Given the description of an element on the screen output the (x, y) to click on. 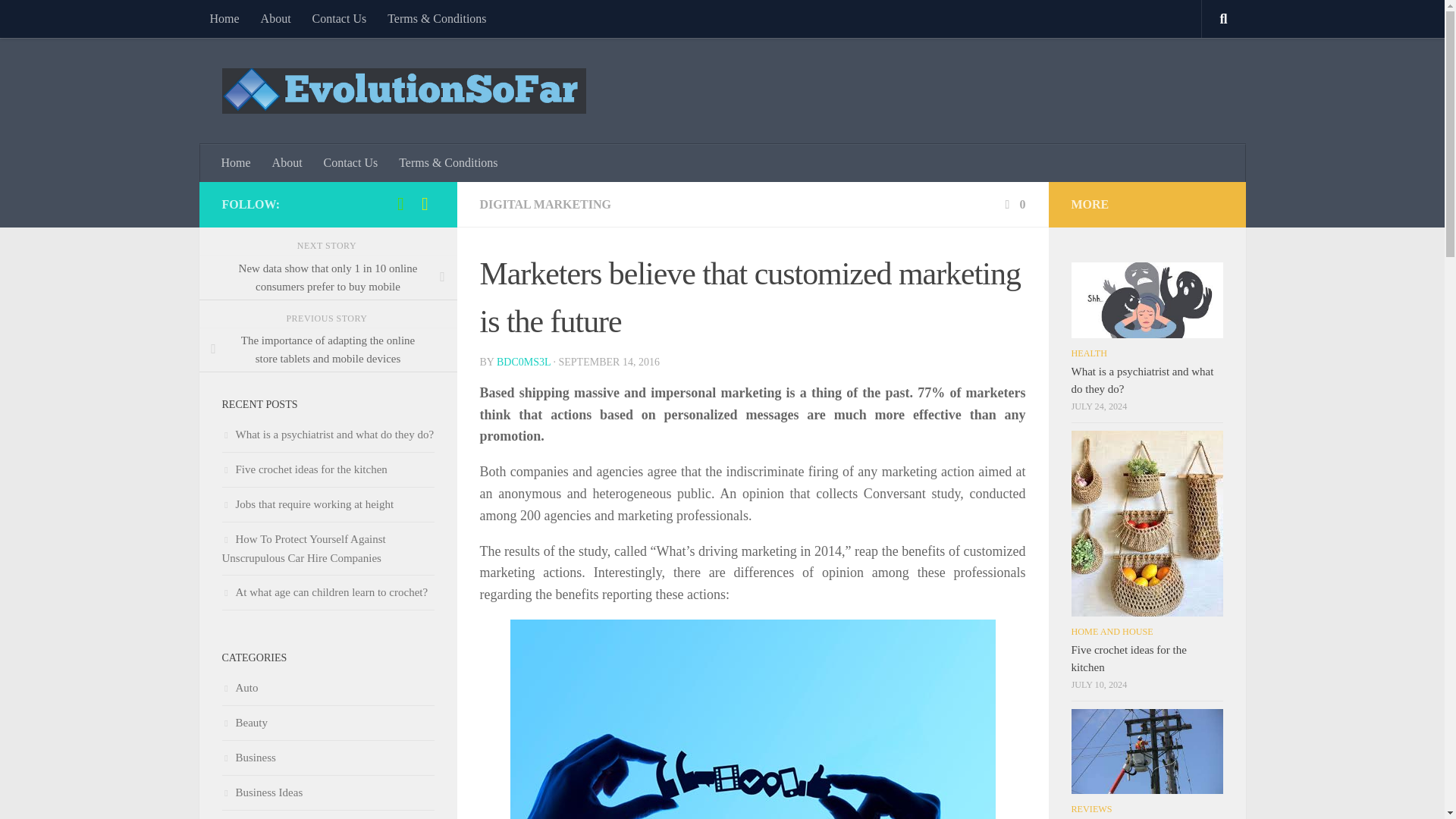
Contact Us (350, 162)
Home (236, 162)
Skip to content (59, 20)
About (287, 162)
Contact Us (339, 18)
BDC0MS3L (523, 361)
Home (223, 18)
About (275, 18)
0 (1013, 204)
DIGITAL MARKETING (545, 204)
Posts by bdc0ms3l (523, 361)
